Given the description of an element on the screen output the (x, y) to click on. 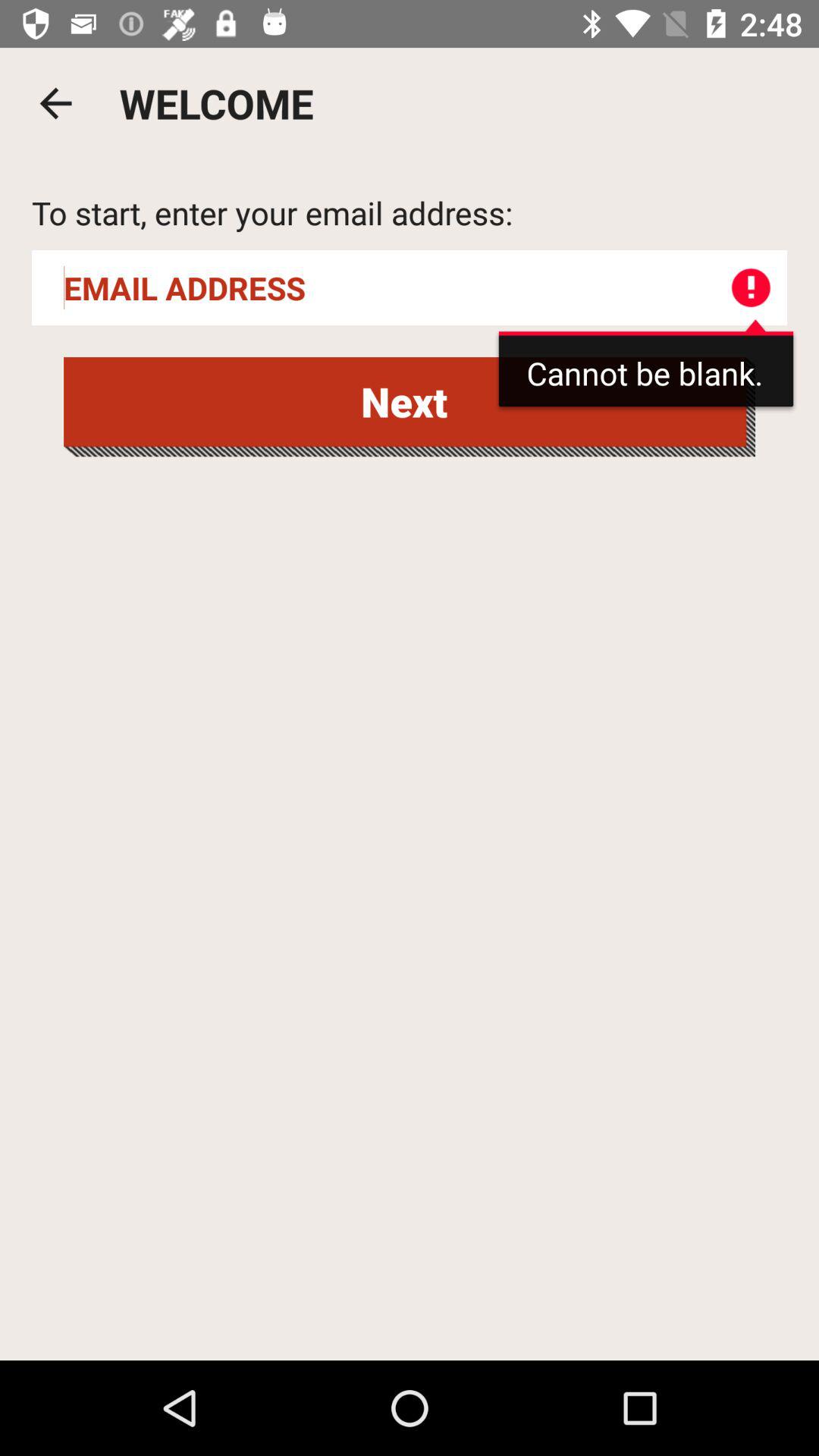
enter email (409, 287)
